Given the description of an element on the screen output the (x, y) to click on. 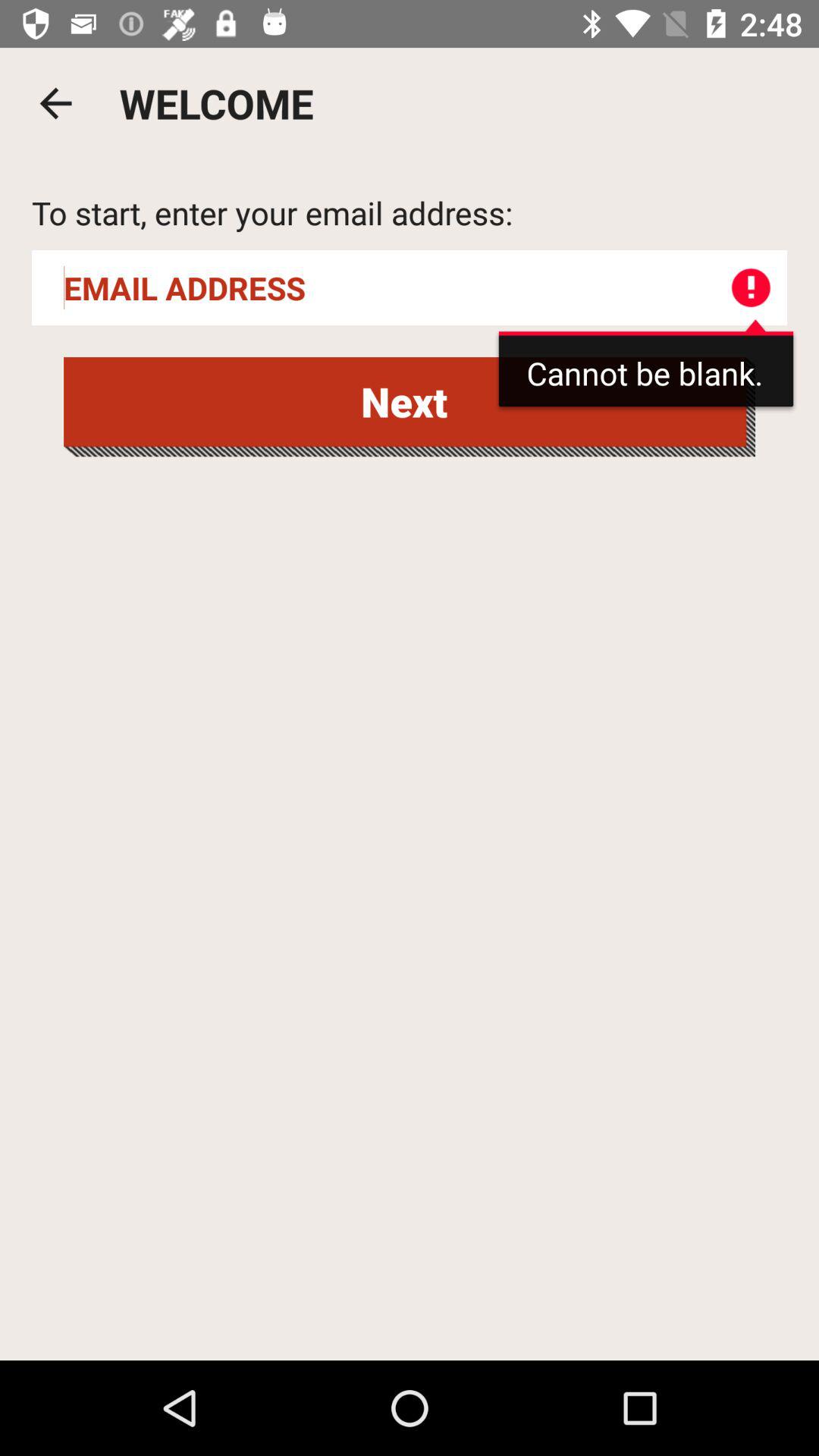
enter email (409, 287)
